Given the description of an element on the screen output the (x, y) to click on. 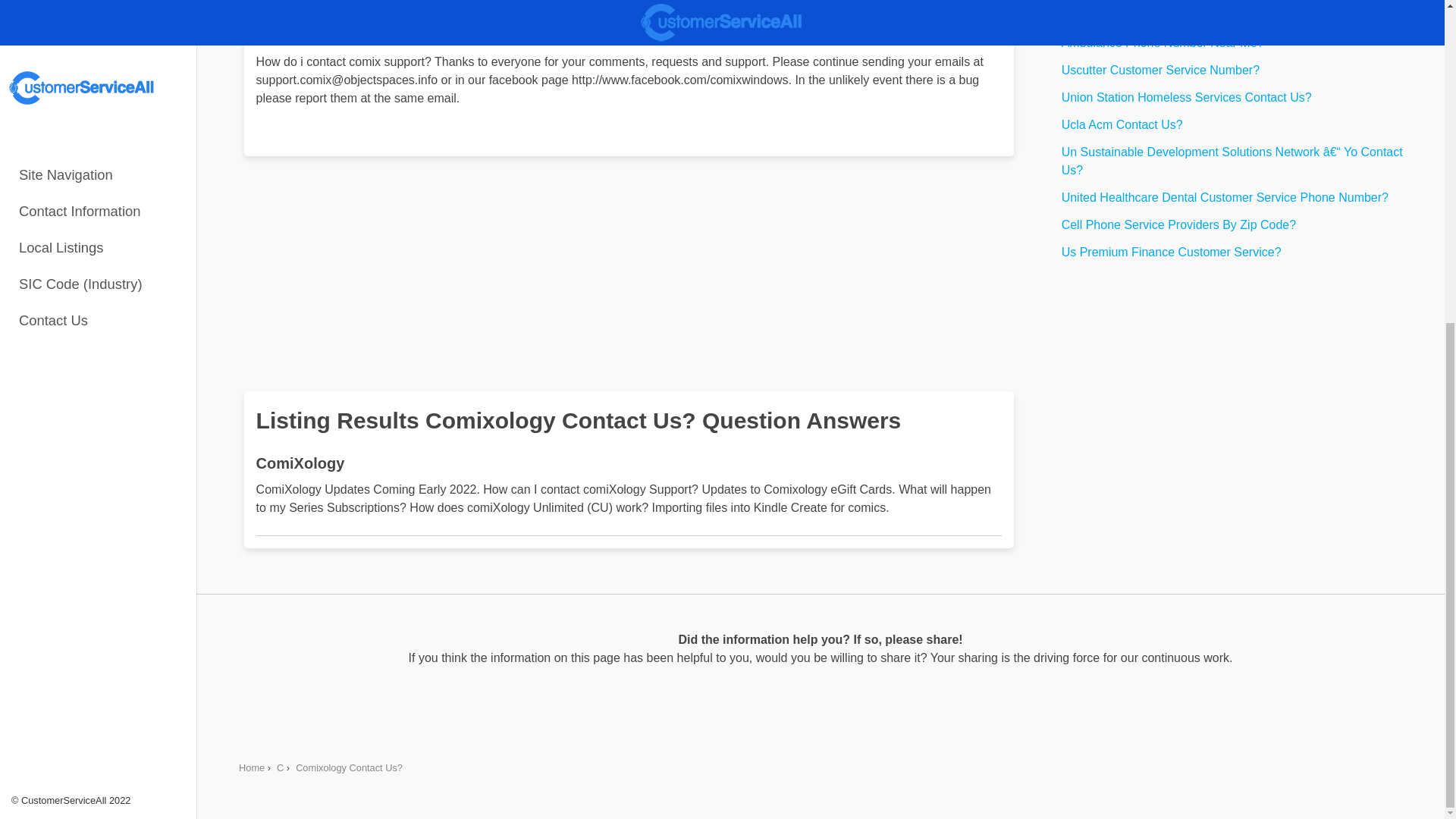
Comixology Contact Us? (349, 766)
Cell Phone Service Providers By Zip Code? (1238, 224)
Ambulance Phone Number Near Me? (1238, 43)
Us Premium Finance Customer Service? (1238, 252)
Dieterich Bank Phone Number? (1238, 15)
United Healthcare Dental Customer Service Phone Number? (1238, 197)
Uscutter Customer Service Number? (1238, 70)
Ucla Acm Contact Us? (1238, 125)
